Given the description of an element on the screen output the (x, y) to click on. 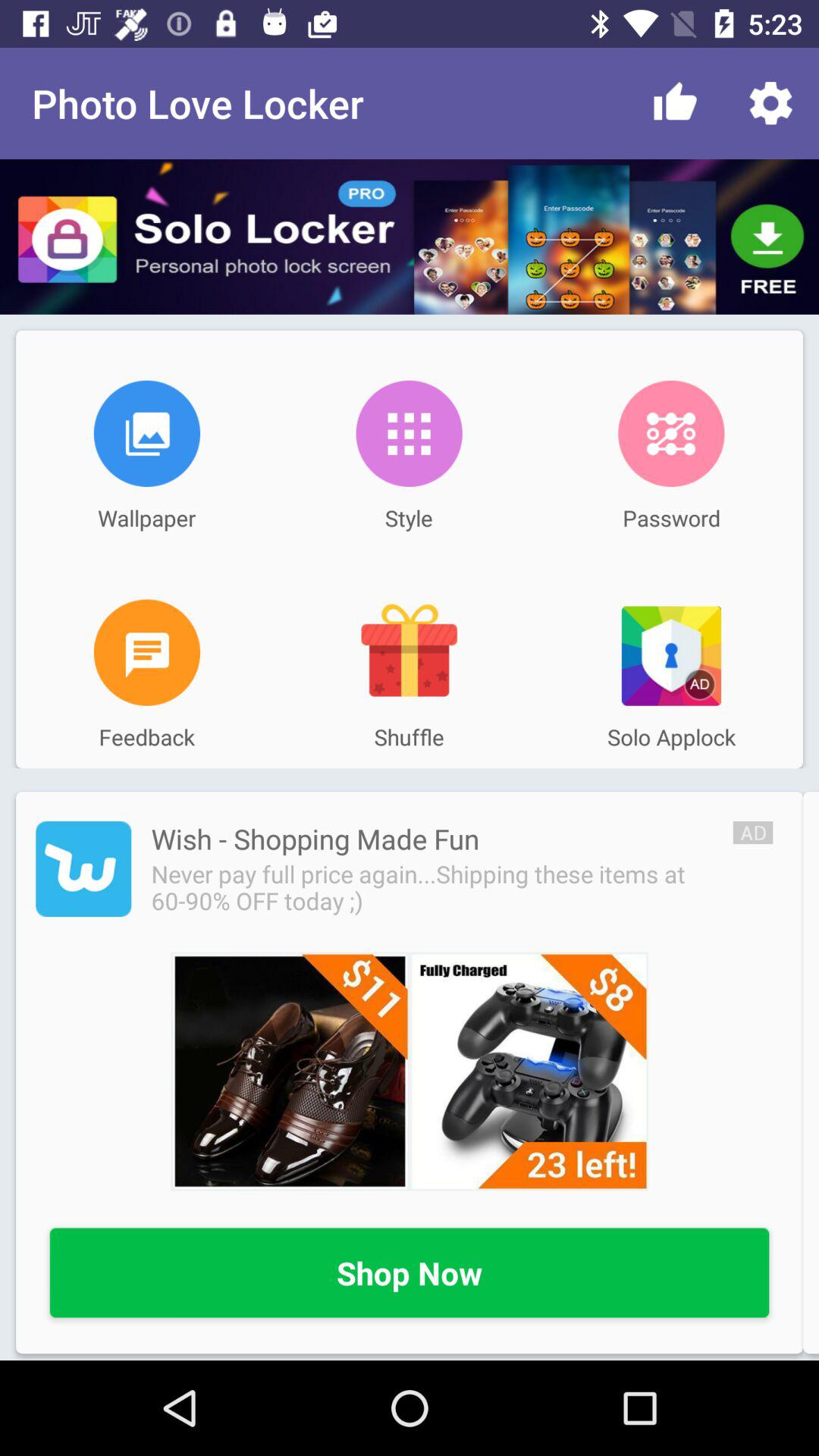
turn on item next to the shuffle (146, 652)
